Given the description of an element on the screen output the (x, y) to click on. 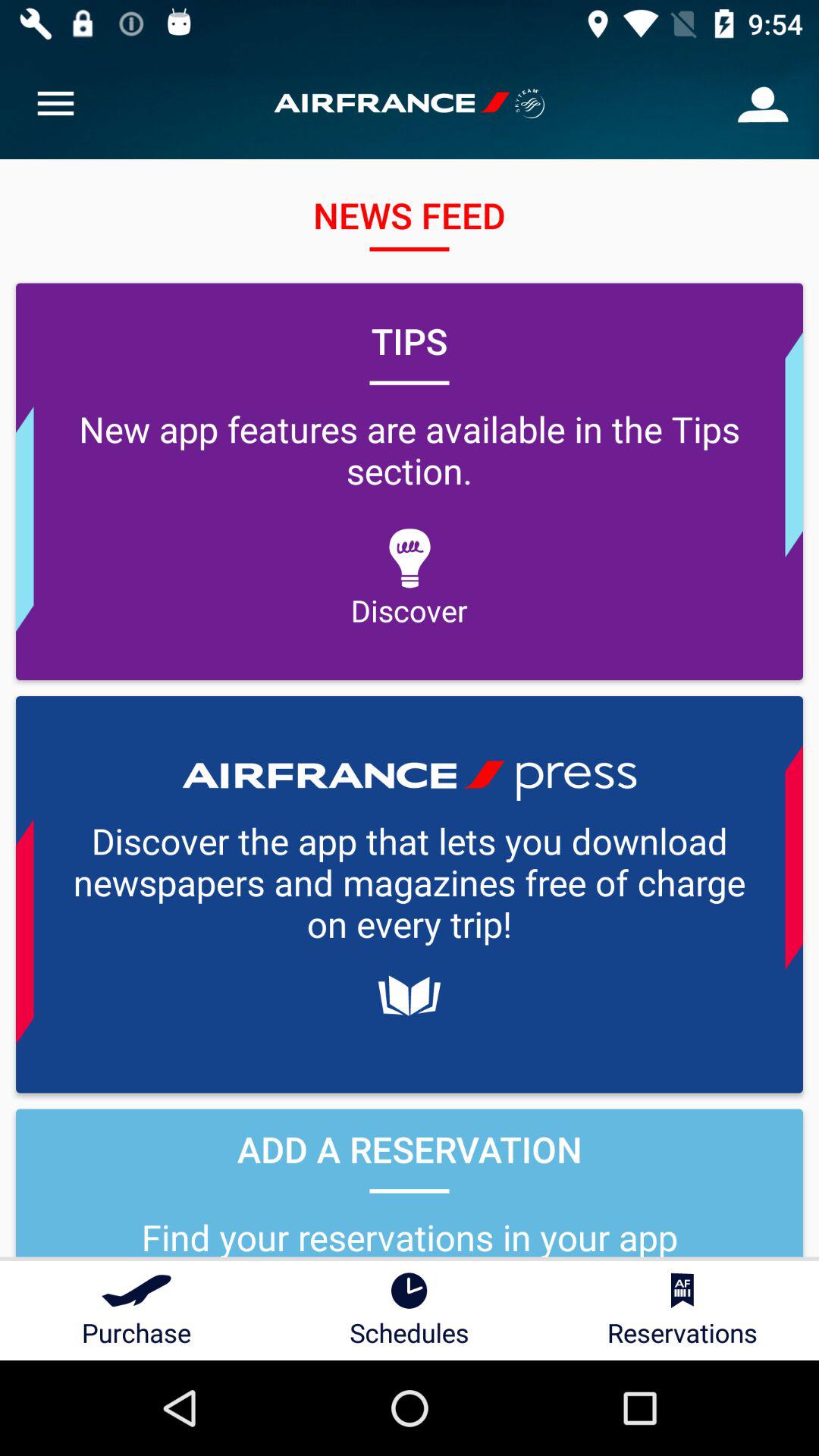
launch item above tips item (55, 103)
